Given the description of an element on the screen output the (x, y) to click on. 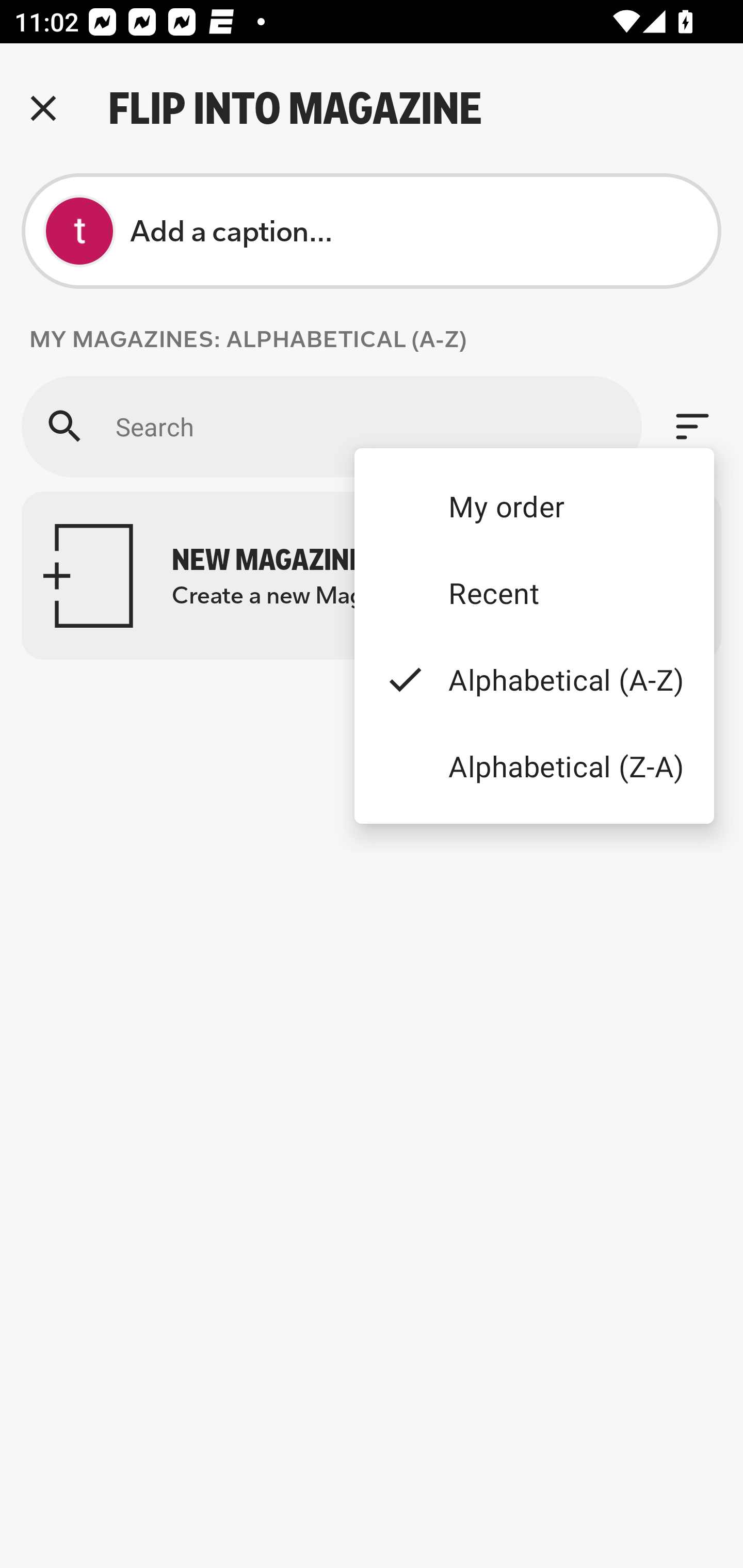
My order (534, 505)
Recent (534, 592)
Alphabetical (A-Z) (534, 679)
Alphabetical (Z-A) (534, 765)
